Given the description of an element on the screen output the (x, y) to click on. 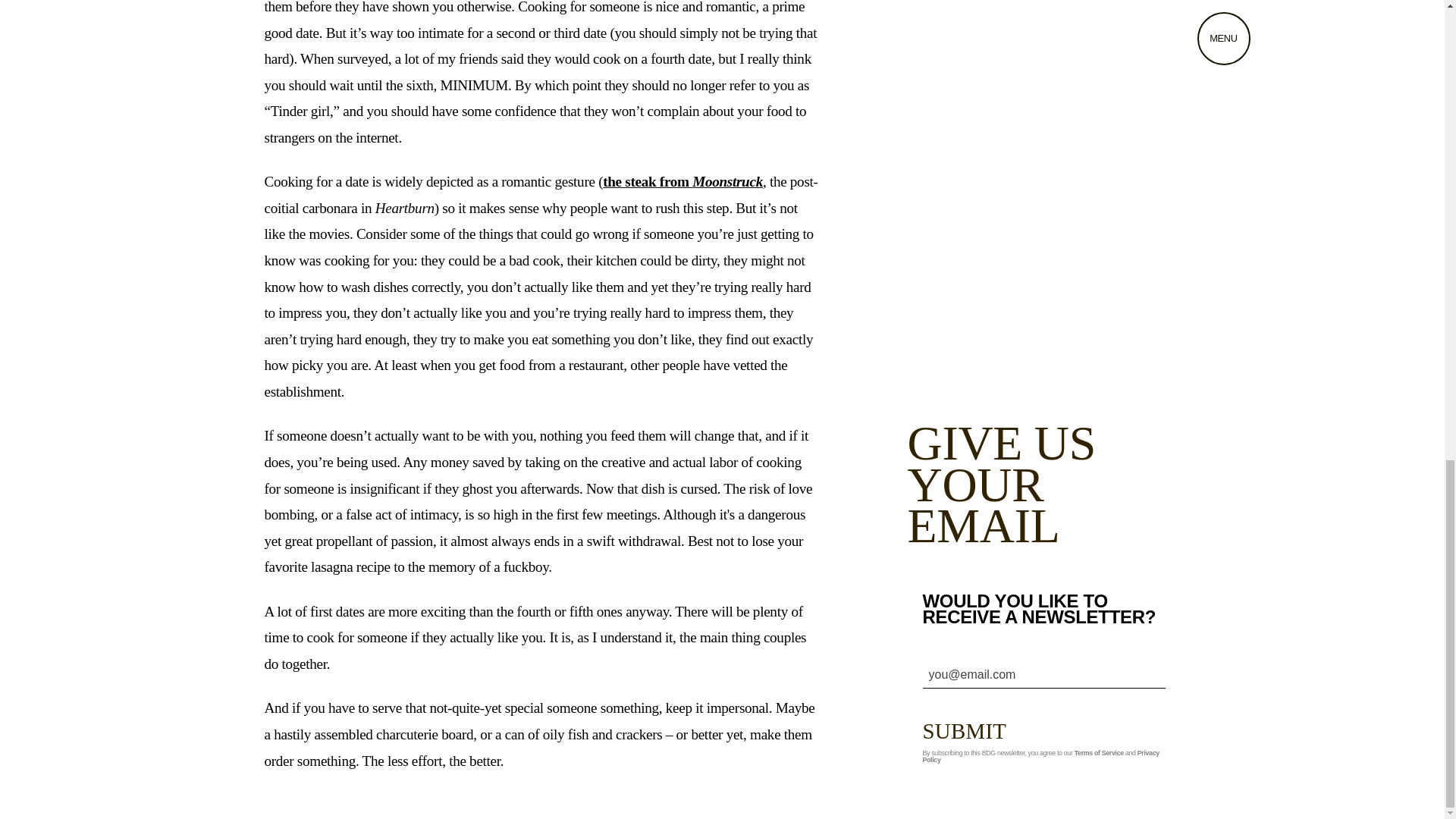
SUBMIT (975, 729)
the steak from Moonstruck (682, 181)
Privacy Policy (1039, 756)
Terms of Service (1099, 751)
